Given the description of an element on the screen output the (x, y) to click on. 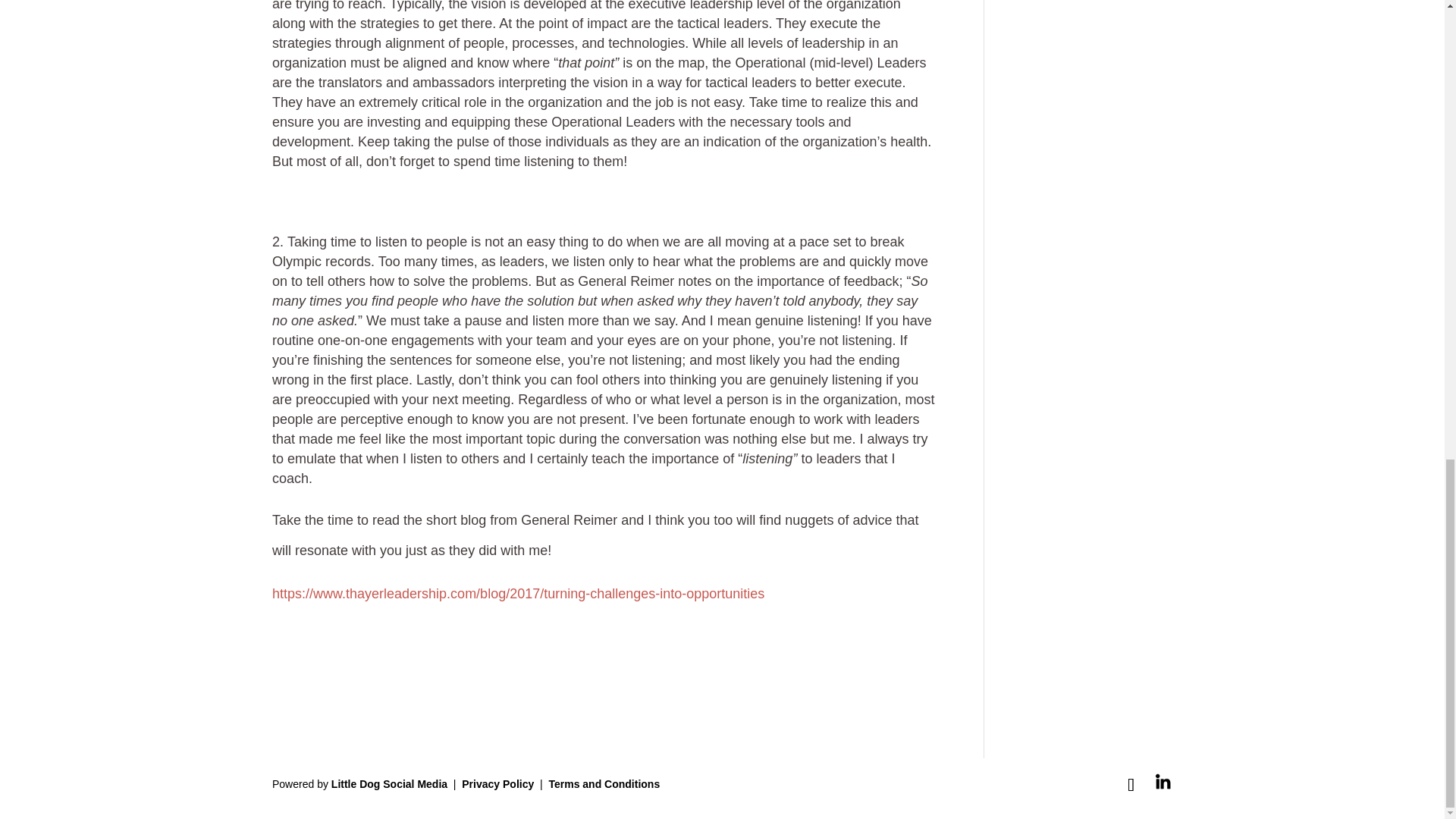
Privacy Policy (497, 784)
Little Dog Social Media (387, 784)
Terms and Conditions (603, 784)
